Given the description of an element on the screen output the (x, y) to click on. 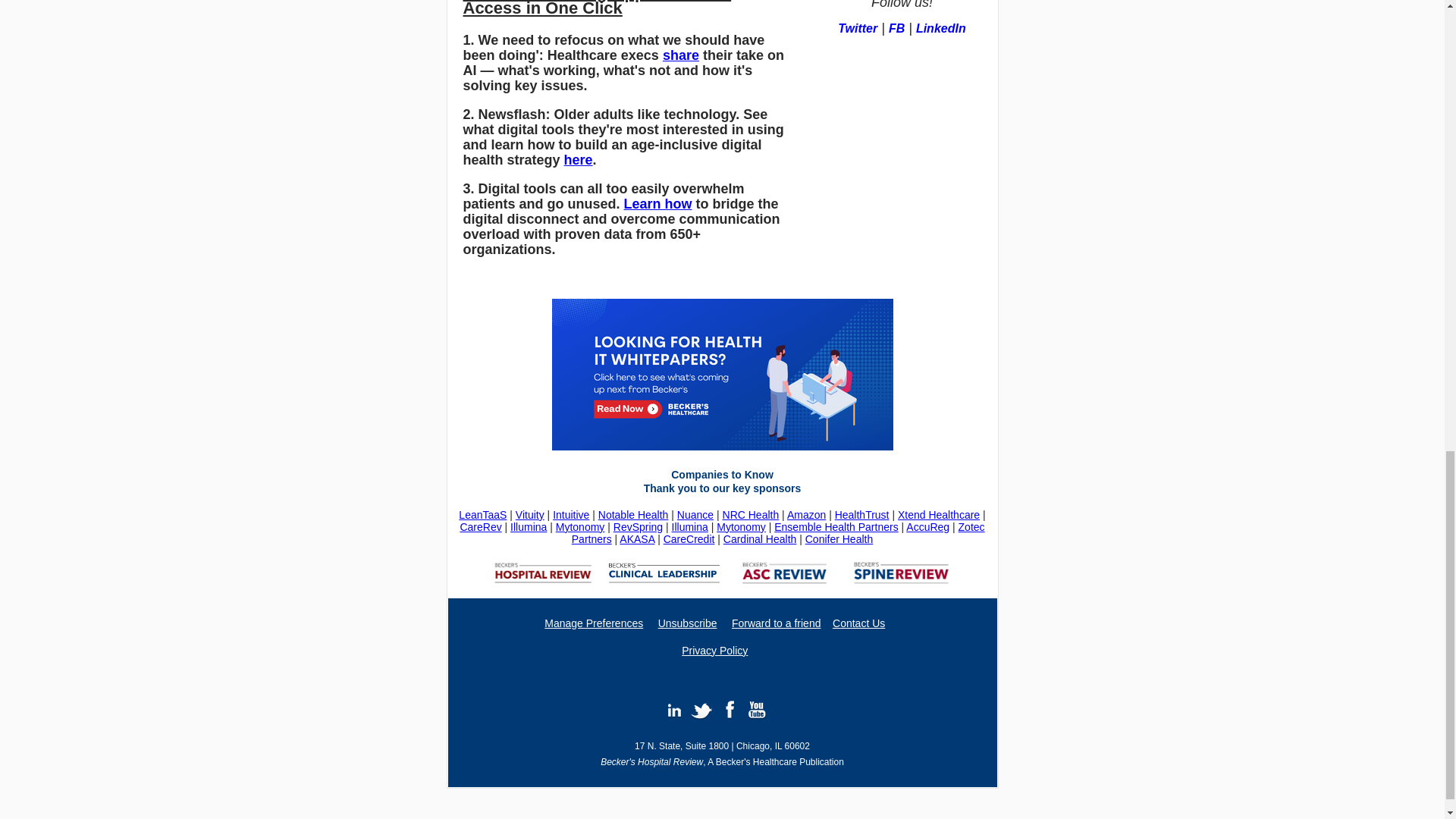
share (680, 55)
Like us on Facebook (756, 709)
here (578, 159)
Twitter (857, 28)
Learn how (658, 203)
Like us on Facebook (729, 709)
LeanTaaS (482, 514)
FB (896, 28)
LinkedIn (940, 28)
View our profile on LinkedIn (673, 709)
Intuitive (571, 514)
Vituity (529, 514)
Follow us on Twitter (700, 709)
